Given the description of an element on the screen output the (x, y) to click on. 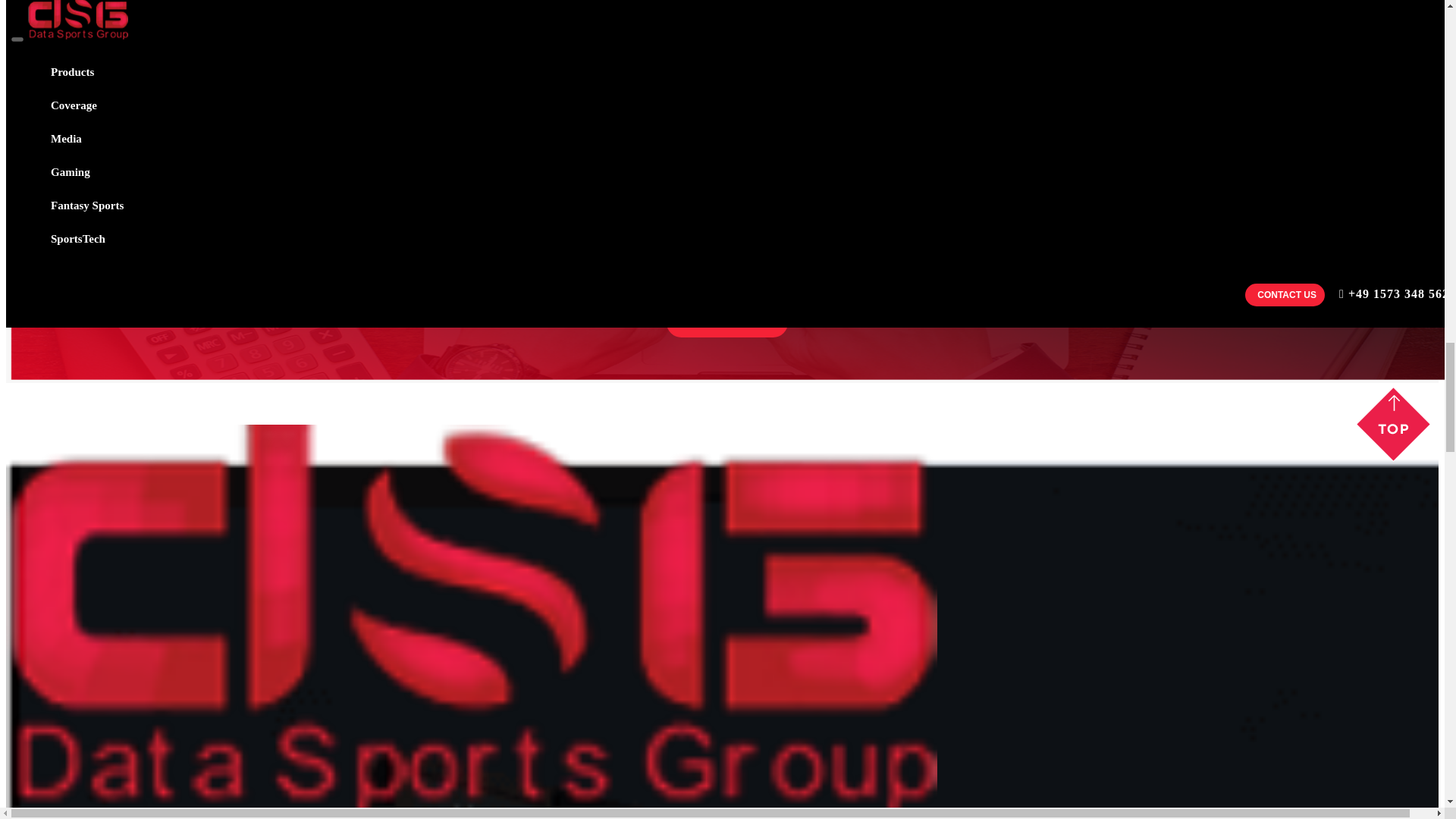
Submit (726, 322)
Submit (726, 322)
